Given the description of an element on the screen output the (x, y) to click on. 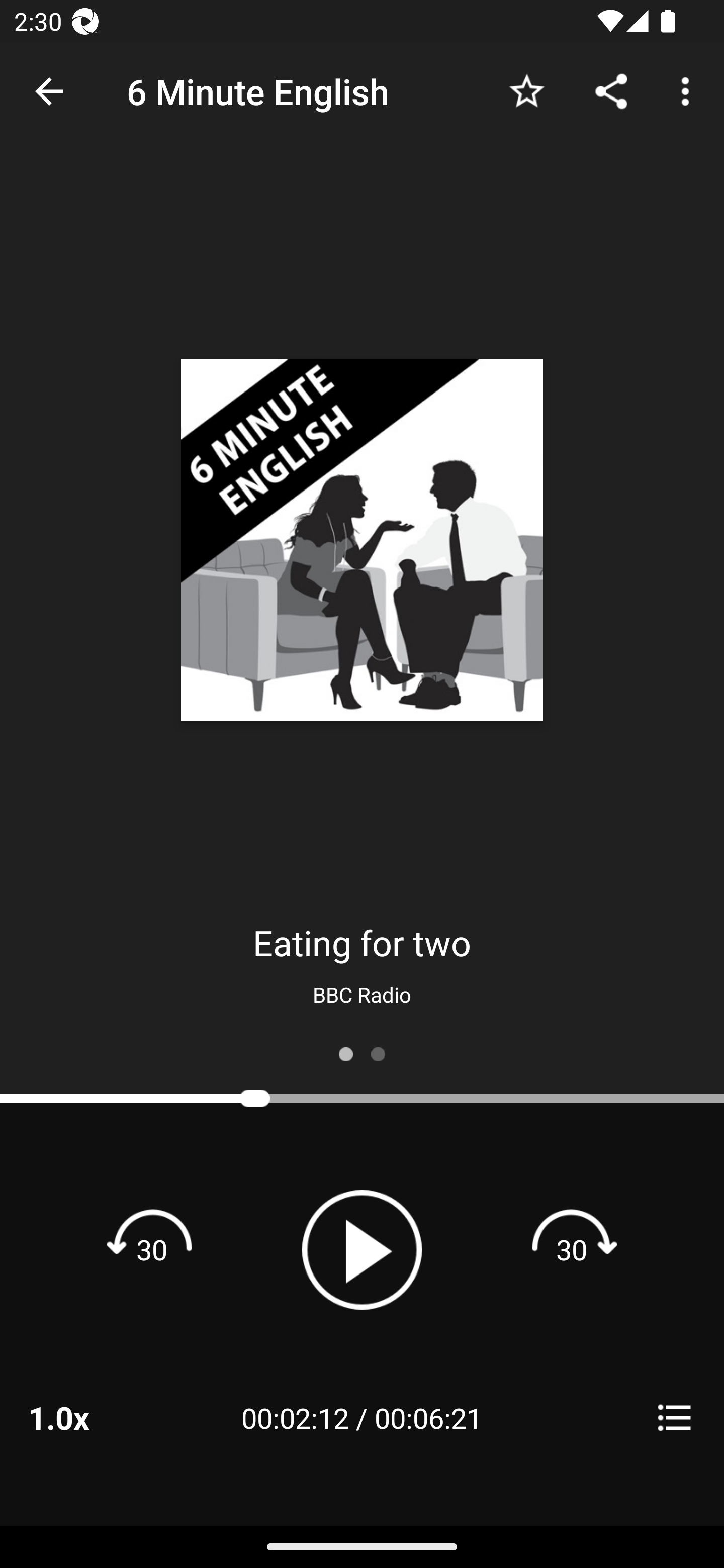
Navigate up (49, 91)
Add to Favorites (526, 90)
Share... (611, 90)
More options (688, 90)
BBC Radio (361, 994)
Play (361, 1249)
Rewind (151, 1249)
Fast forward (571, 1249)
1.0x Playback Speeds (84, 1417)
00:06:21 (428, 1417)
